Given the description of an element on the screen output the (x, y) to click on. 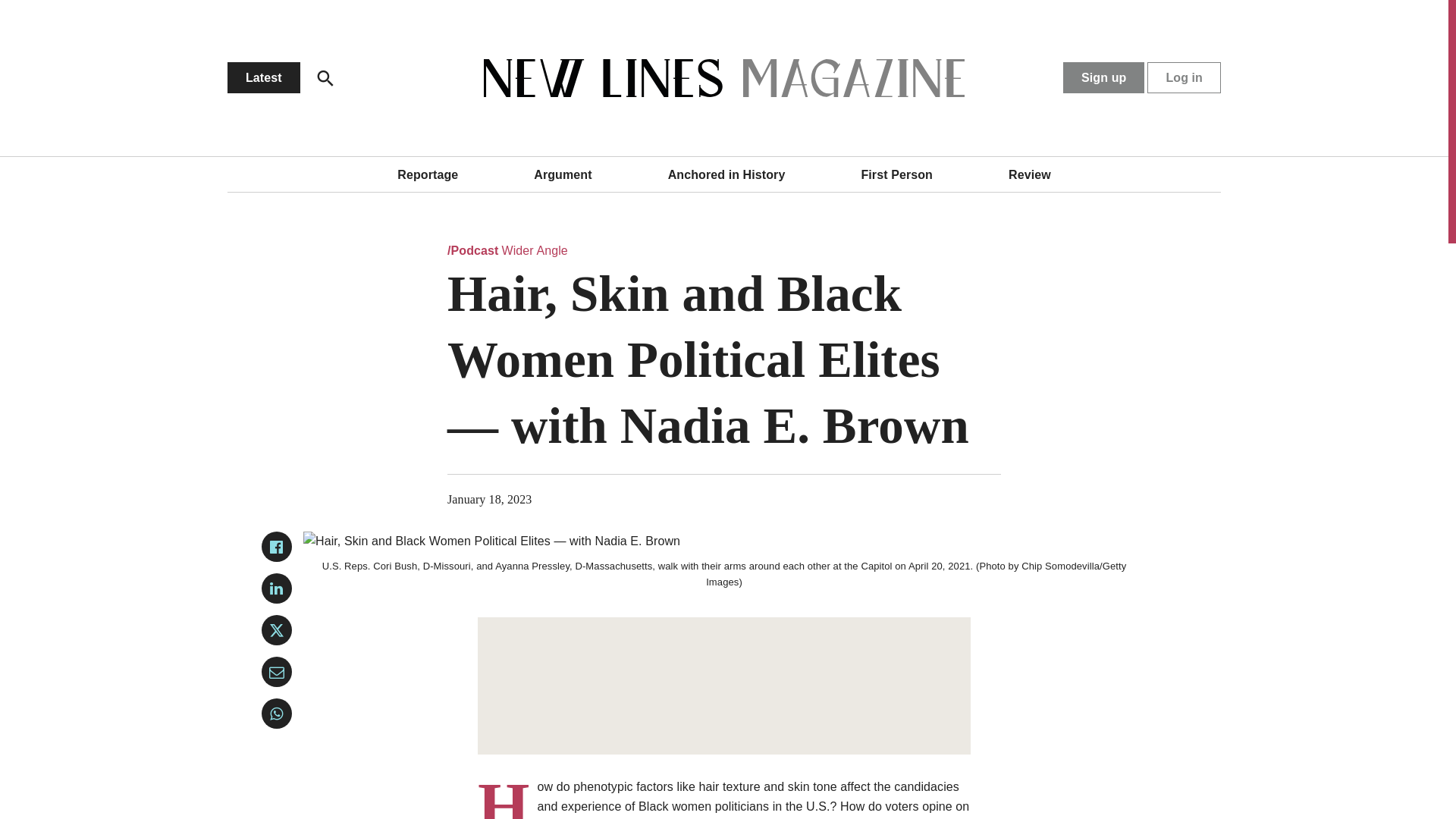
Share at Facebook (277, 546)
Review (1030, 174)
Podcast (472, 250)
Sign up (1103, 77)
Argument (562, 174)
Log in (1184, 77)
Reportage (427, 174)
Share at LinkedIn (277, 588)
Wider Angle (534, 250)
Tweet It (277, 630)
Anchored in History (727, 174)
First Person (896, 174)
Latest (263, 77)
